Given the description of an element on the screen output the (x, y) to click on. 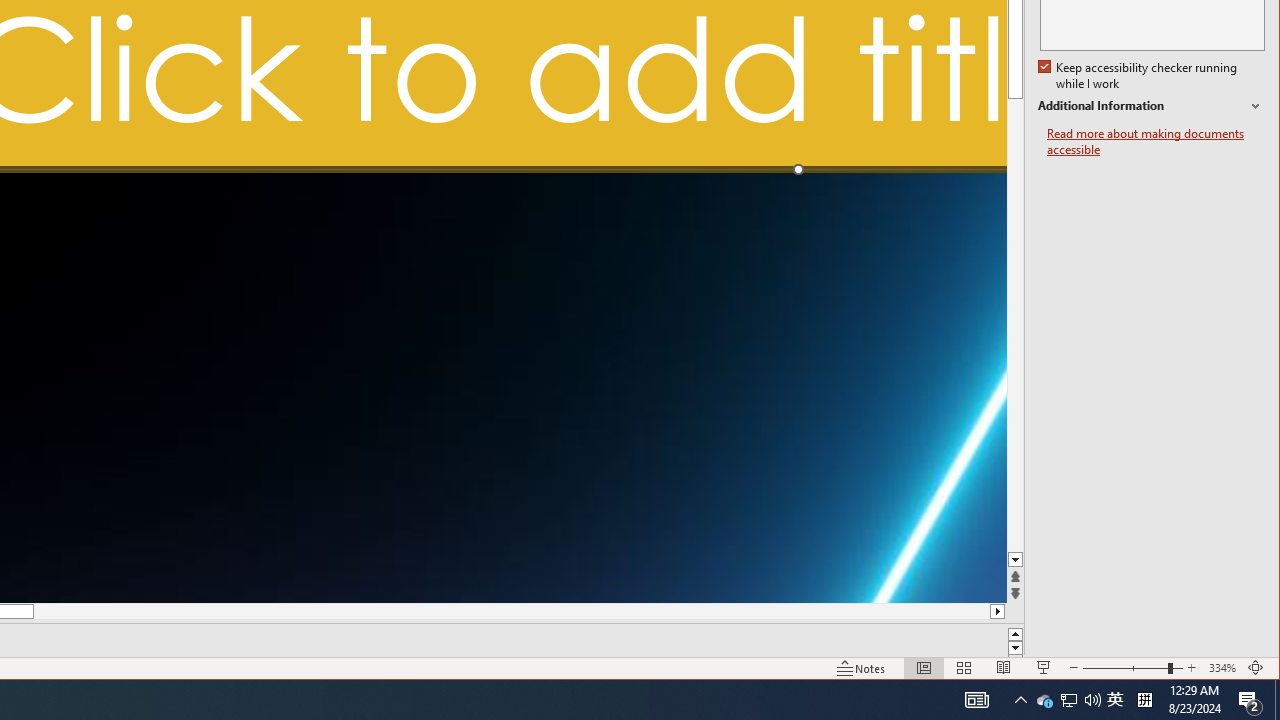
Page down (1015, 342)
Additional Information (1151, 106)
Keep accessibility checker running while I work (1069, 699)
Read more about making documents accessible (1139, 76)
Zoom (1044, 699)
AutomationID: 4105 (1155, 142)
Q2790: 100% (1132, 668)
Zoom to Fit  (976, 699)
Action Center, 2 new notifications (1092, 699)
Zoom Out (1256, 668)
Notification Chevron (1250, 699)
Zoom In (1124, 668)
Slide Sorter (1020, 699)
